Given the description of an element on the screen output the (x, y) to click on. 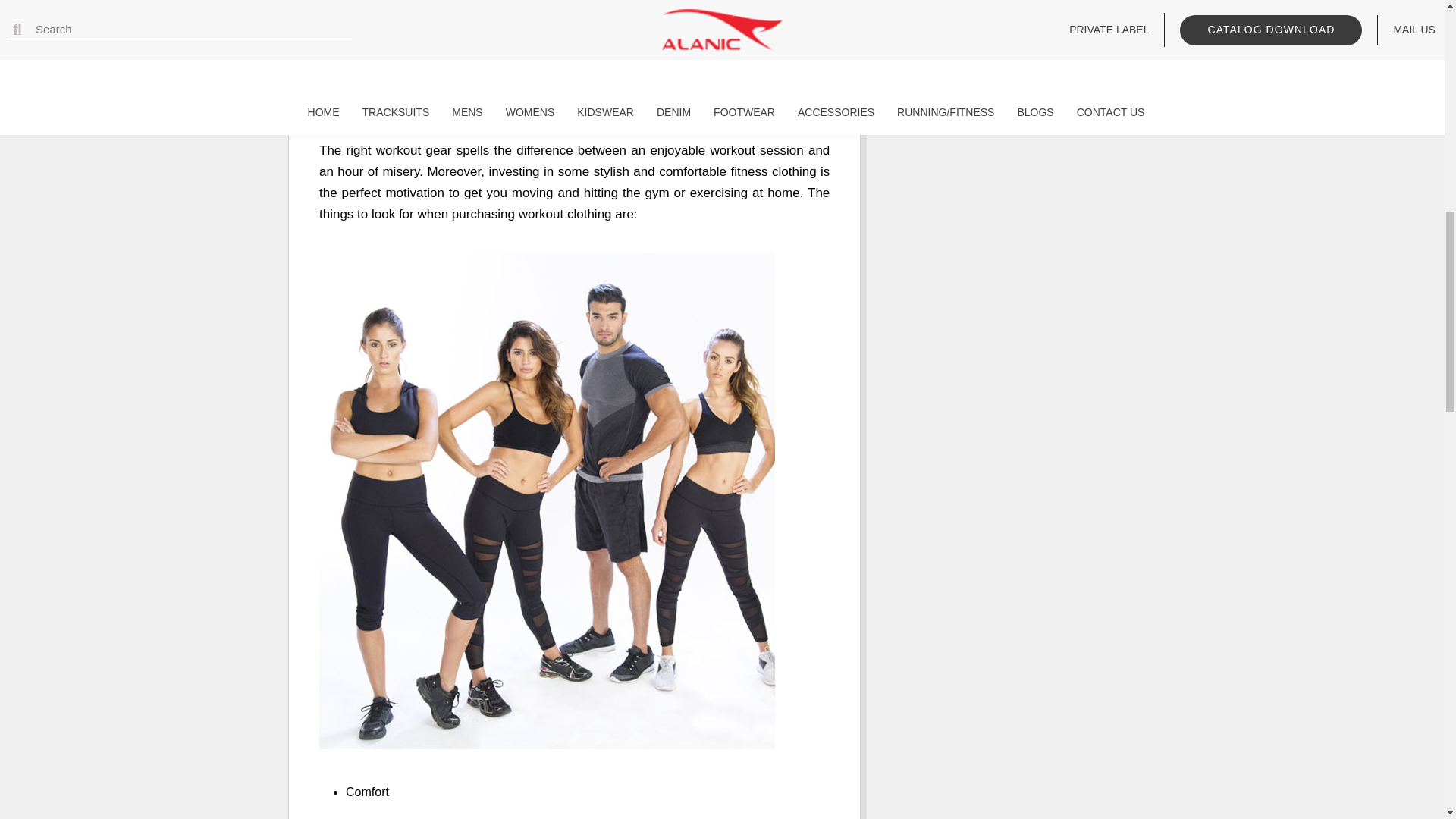
Alanic (581, 104)
